Given the description of an element on the screen output the (x, y) to click on. 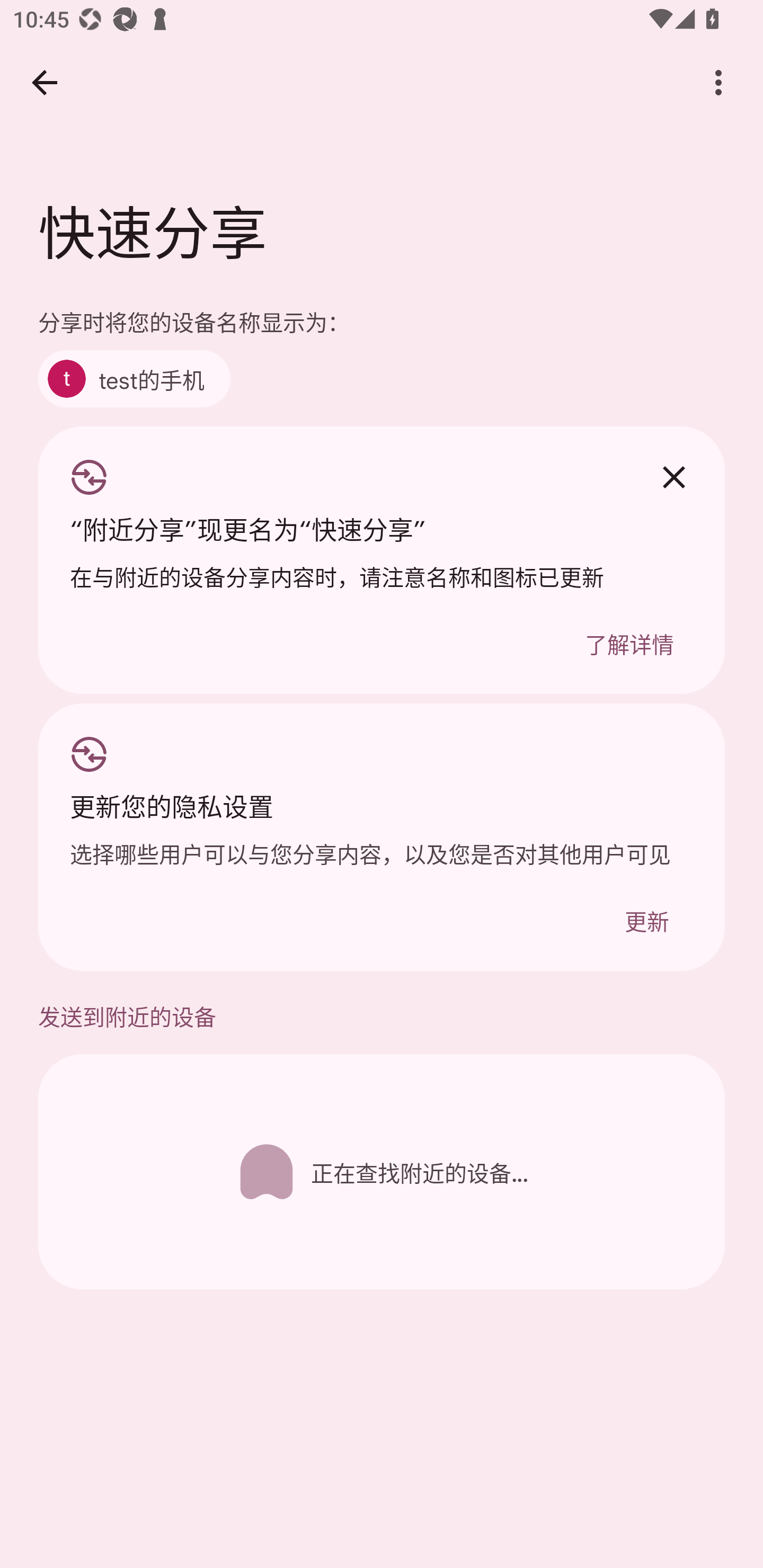
返回 (44, 81)
更多 (718, 81)
test的手机 (134, 378)
关闭 (673, 477)
了解详情 (629, 642)
更新 (646, 919)
